Given the description of an element on the screen output the (x, y) to click on. 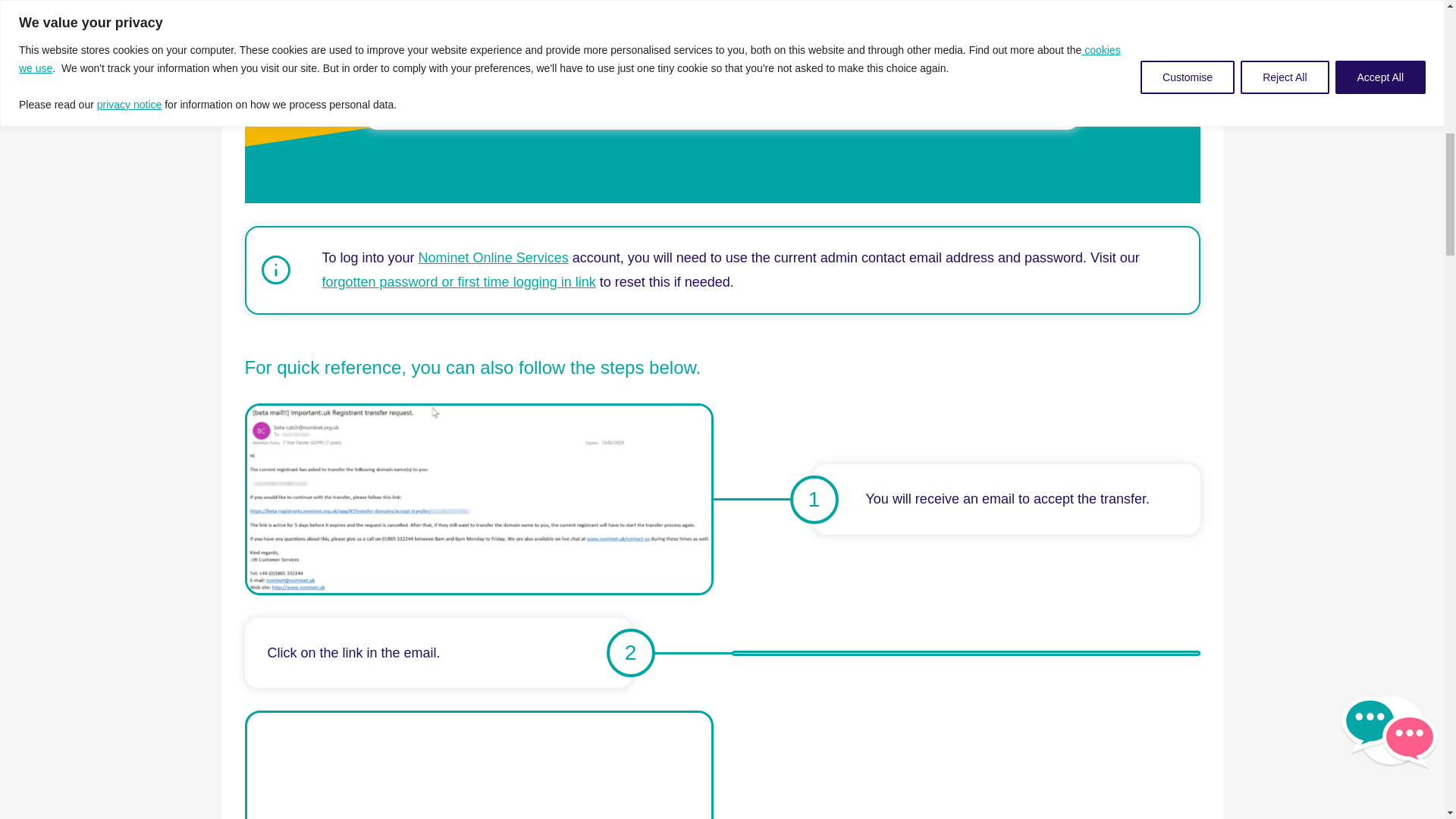
Nominet Online Services (494, 257)
forgotten password or first time logging in link (458, 281)
